Given the description of an element on the screen output the (x, y) to click on. 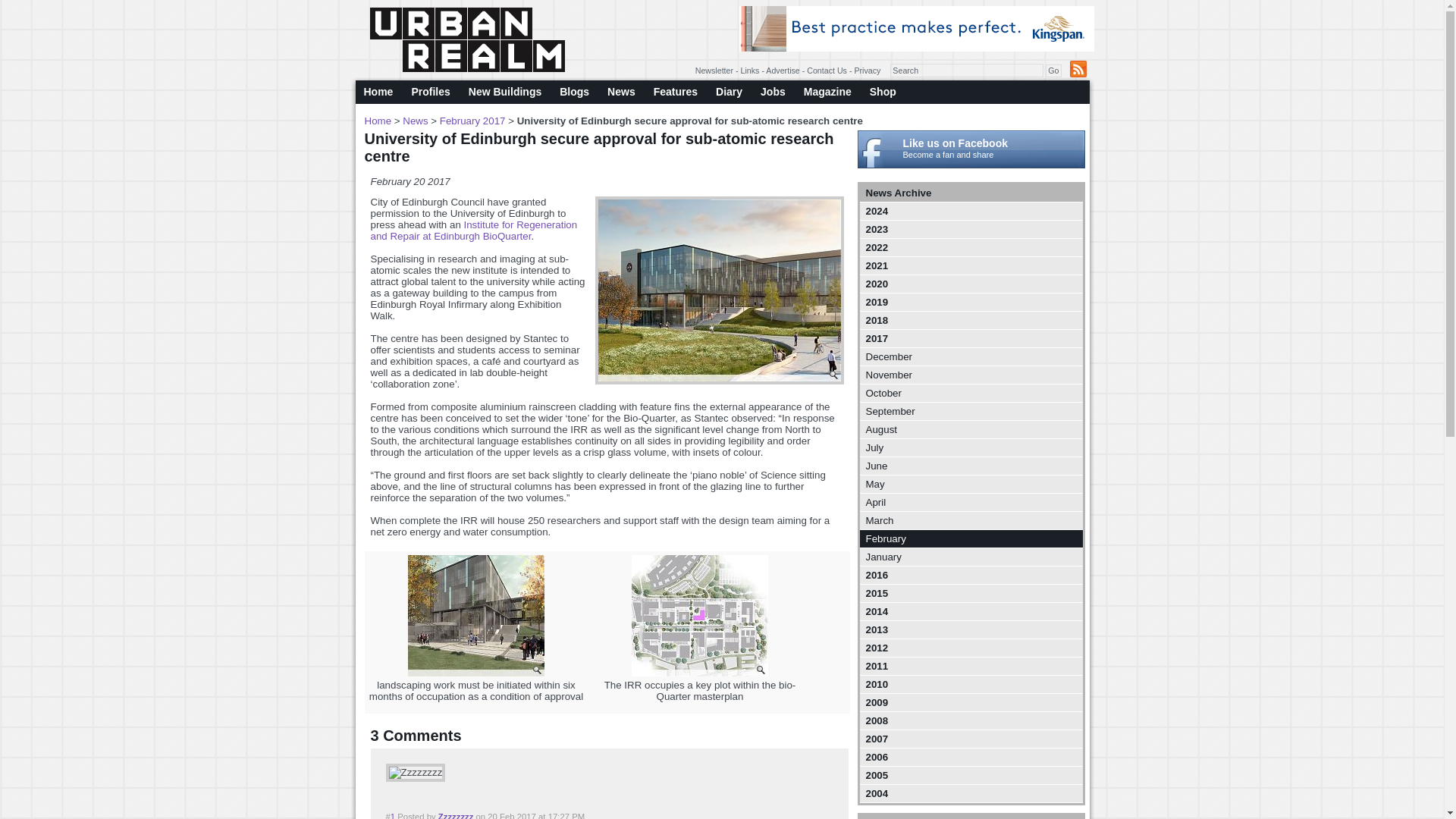
News (621, 92)
Diary (728, 92)
Search (966, 69)
Shop (882, 92)
Profiles (429, 92)
Go (1053, 70)
Contact Us (826, 70)
